Given the description of an element on the screen output the (x, y) to click on. 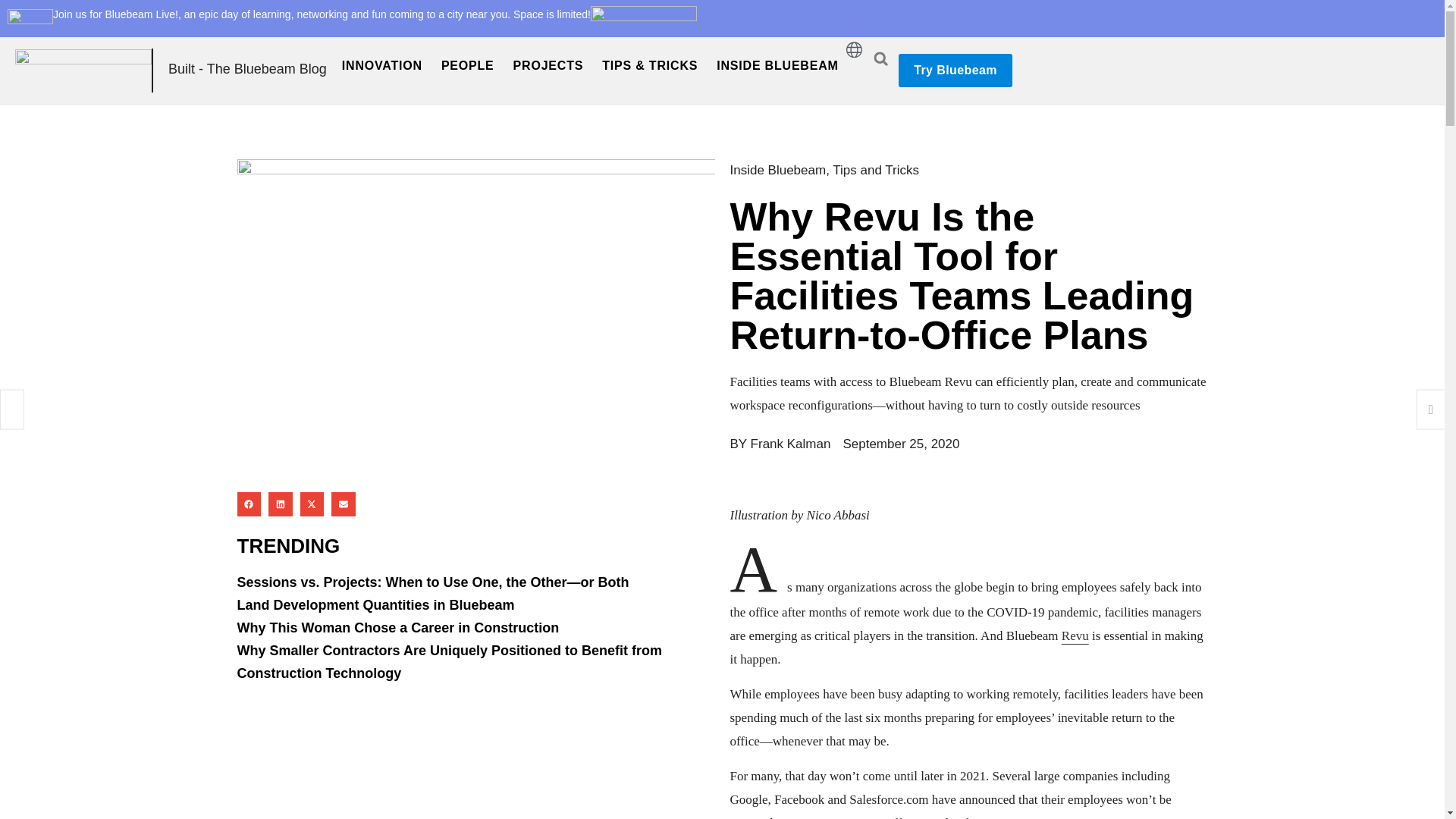
as late as August 2021 (1009, 817)
INSIDE BLUEBEAM (777, 65)
Inside Bluebeam (777, 169)
Try Bluebeam (954, 70)
Tips and Tricks (875, 169)
PROJECTS (548, 65)
Built - The Bluebeam Blog (247, 68)
PEOPLE (468, 65)
Why This Woman Chose a Career in Construction (397, 627)
BY Frank Kalman (779, 443)
Revu (1075, 635)
INNOVATION (382, 65)
Land Development Quantities in Bluebeam (374, 604)
